Given the description of an element on the screen output the (x, y) to click on. 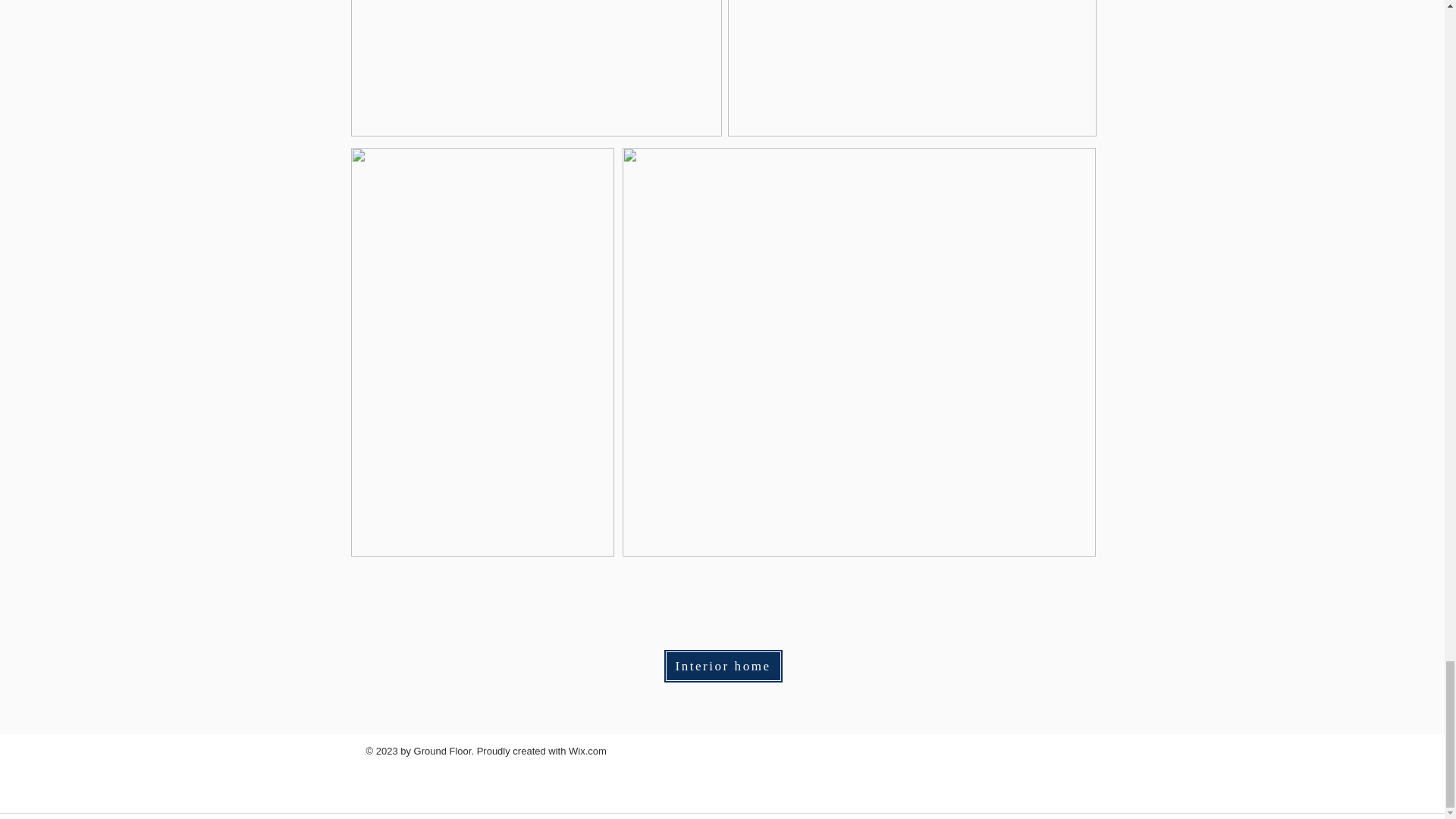
modern28.png (535, 68)
modern23.png (912, 68)
